Given the description of an element on the screen output the (x, y) to click on. 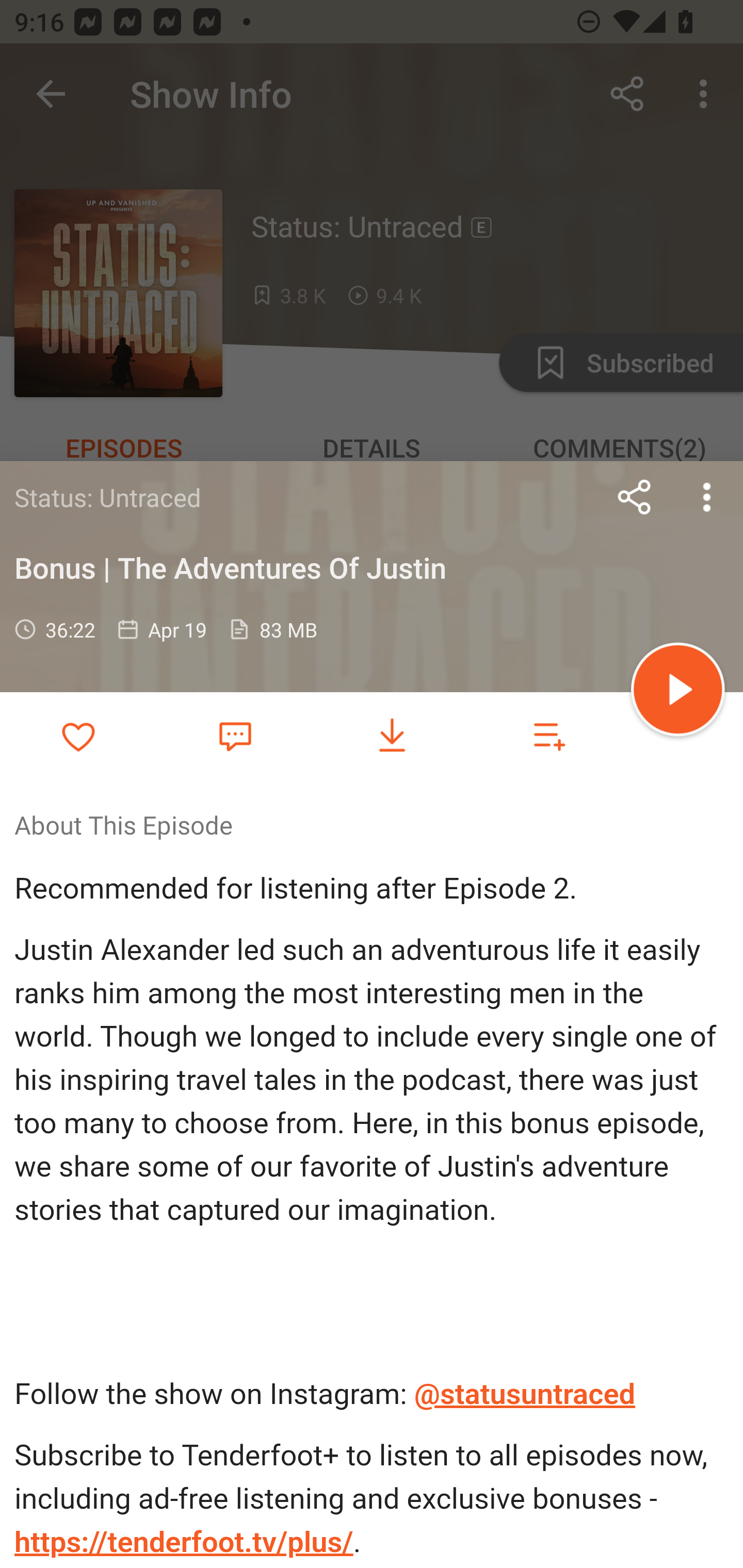
Share (634, 496)
more options (706, 496)
Play (677, 692)
Favorite (234, 735)
Add to Favorites (78, 735)
Download (391, 735)
Add to playlist (548, 735)
@statusuntraced (525, 1394)
https://tenderfoot.tv/plus/ (183, 1542)
